Given the description of an element on the screen output the (x, y) to click on. 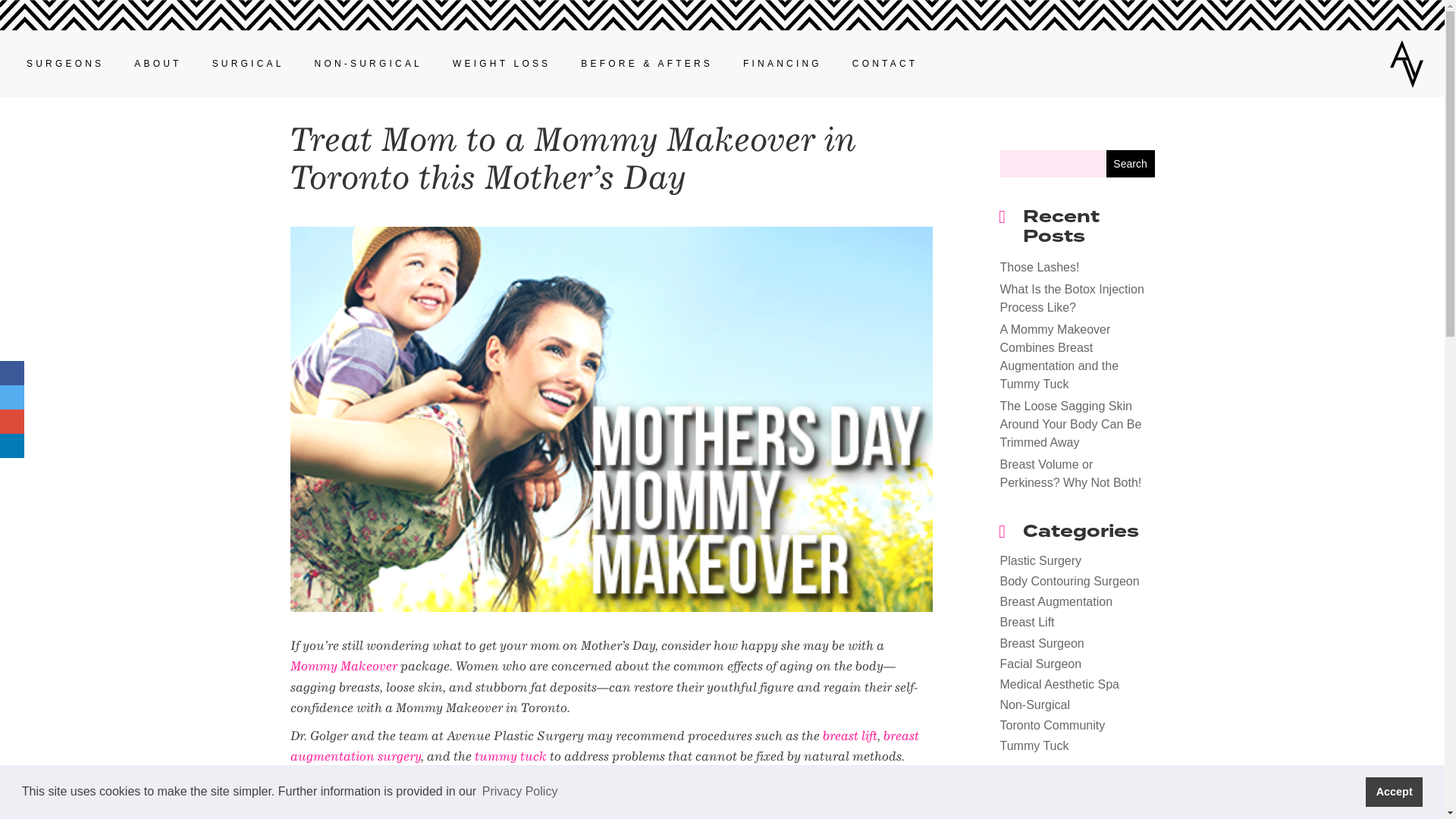
Breast Surgeon Element type: text (1041, 643)
Accept Element type: text (1393, 791)
Breast Volume or Perkiness? Why Not Both! Element type: text (1070, 473)
Facial Surgeon Element type: text (1040, 663)
Non-Surgical Element type: text (1034, 704)
Contact us Element type: text (12, 421)
BEFORE & AFTERS Element type: text (646, 63)
Avenue Plastic Surgery Linkedin Element type: text (12, 445)
SURGEONS Element type: text (65, 63)
NON-SURGICAL Element type: text (368, 63)
FINANCING Element type: text (782, 63)
Body Contouring Surgeon Element type: text (1069, 580)
Avenue Plastic Surgery, Dr. Alexander Golger, Toronto, ON Element type: hover (1406, 62)
Those Lashes! Element type: text (1039, 266)
Search Element type: text (1130, 163)
Avenue Plastic Surgery Twitter Element type: text (12, 397)
Medical Aesthetic Spa Element type: text (1058, 683)
Breast Augmentation Element type: text (1055, 601)
Privacy Policy Element type: text (520, 791)
CONTACT Element type: text (885, 63)
breast lift Element type: text (849, 735)
tummy tuck Element type: text (510, 755)
Tummy Tuck Element type: text (1033, 745)
Mommy Makeover Element type: text (342, 665)
Toronto Community Element type: text (1051, 724)
Avenue Plastic Surgery Facebook Element type: text (12, 372)
The Loose Sagging Skin Around Your Body Can Be Trimmed Away Element type: text (1070, 423)
What Is the Botox Injection Process Like? Element type: text (1071, 297)
Breast Lift Element type: text (1026, 621)
breast augmentation surgery Element type: text (603, 745)
WEIGHT LOSS Element type: text (501, 63)
Plastic Surgery Element type: text (1040, 560)
SURGICAL Element type: text (248, 63)
ABOUT Element type: text (157, 63)
